Given the description of an element on the screen output the (x, y) to click on. 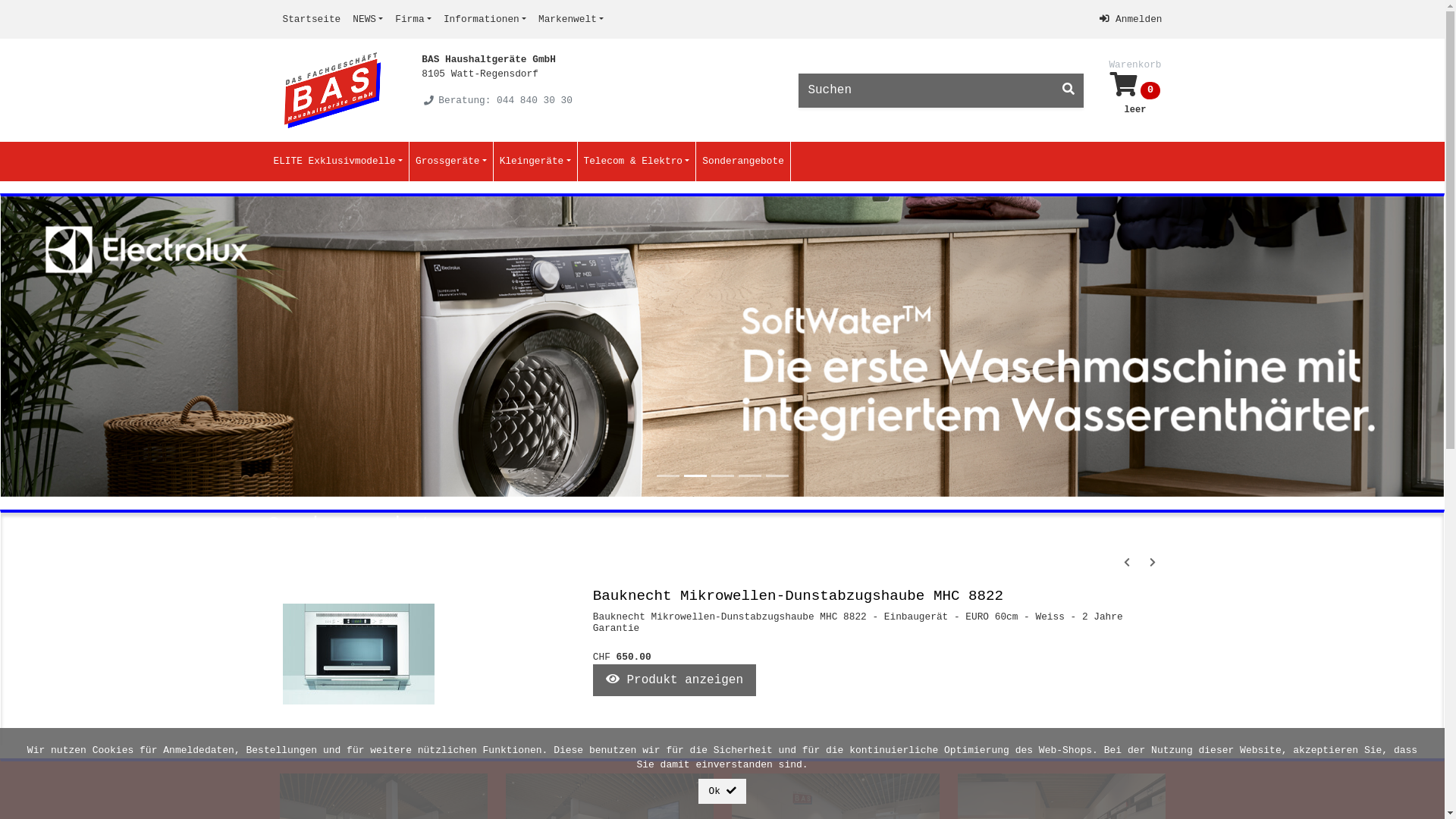
Suche Element type: hover (1068, 90)
NEWS Element type: text (367, 19)
Warenkorb
0
leer Element type: text (1134, 89)
Sonderangebote Element type: text (743, 160)
Startseite Element type: text (311, 19)
Next Element type: text (1335, 346)
Anmelden Element type: text (1130, 19)
ELITE Exklusivmodelle Element type: text (337, 160)
Bauknecht Mikrowellen-Dunstabzugshaube MHC 8822 Element type: text (798, 595)
Markenwelt Element type: text (570, 19)
Telecom & Elektro Element type: text (636, 160)
Ok Element type: text (721, 790)
Firma Element type: text (413, 19)
Next Element type: text (1151, 562)
Produkt anzeigen Element type: text (674, 680)
Informationen Element type: text (484, 19)
Previous Element type: text (108, 346)
Previous Element type: text (1126, 562)
